Given the description of an element on the screen output the (x, y) to click on. 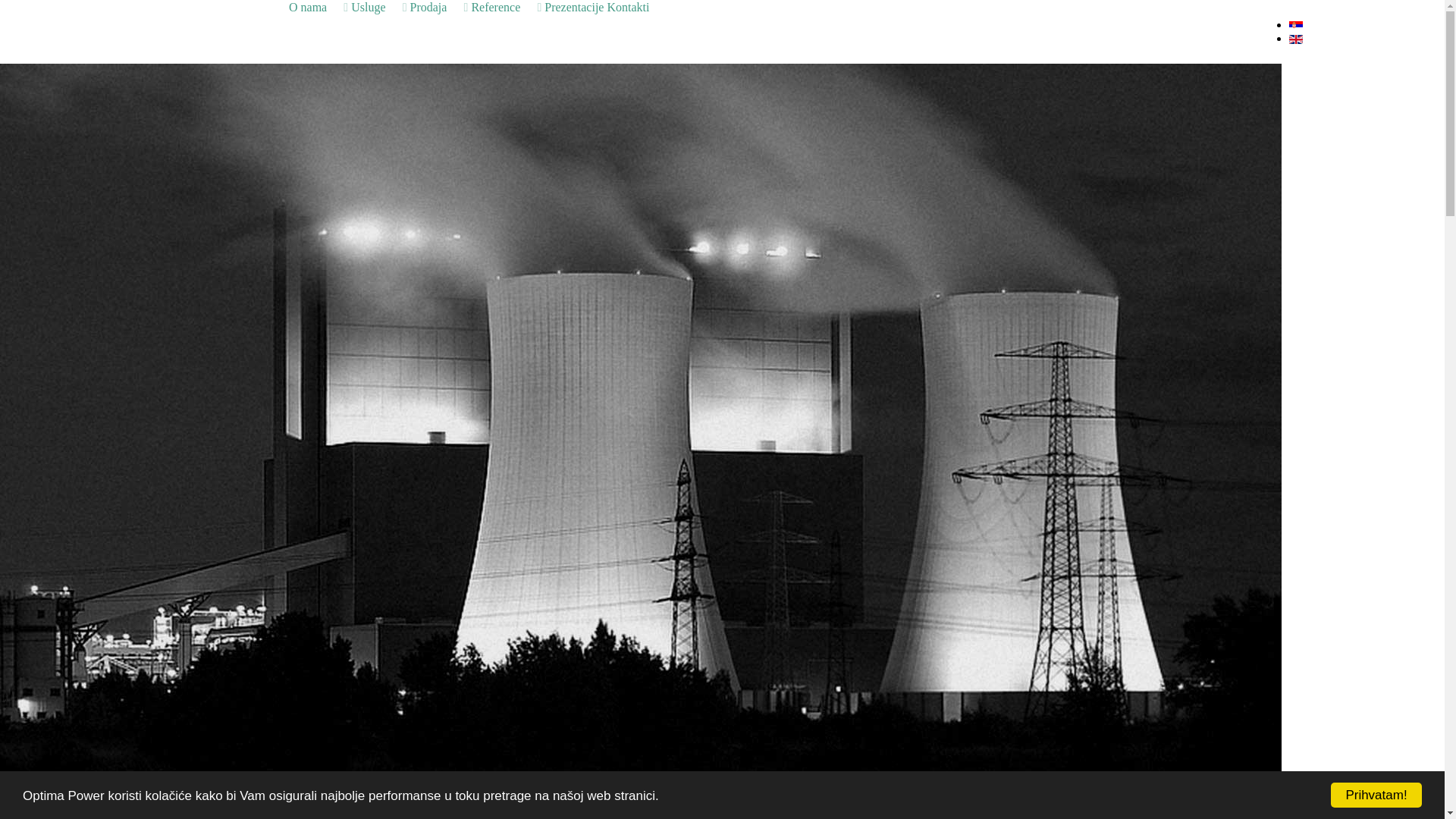
Usluge Element type: text (378, 7)
Srpski latinica (Serbia) Element type: hover (1295, 25)
O nama Element type: text (318, 7)
English (United Kingdom) Element type: hover (1295, 38)
Prezentacije Element type: text (573, 7)
Reference Element type: text (505, 7)
Kontakti Element type: text (627, 7)
Prihvatam! Element type: text (1375, 794)
Prodaja Element type: text (439, 7)
